Given the description of an element on the screen output the (x, y) to click on. 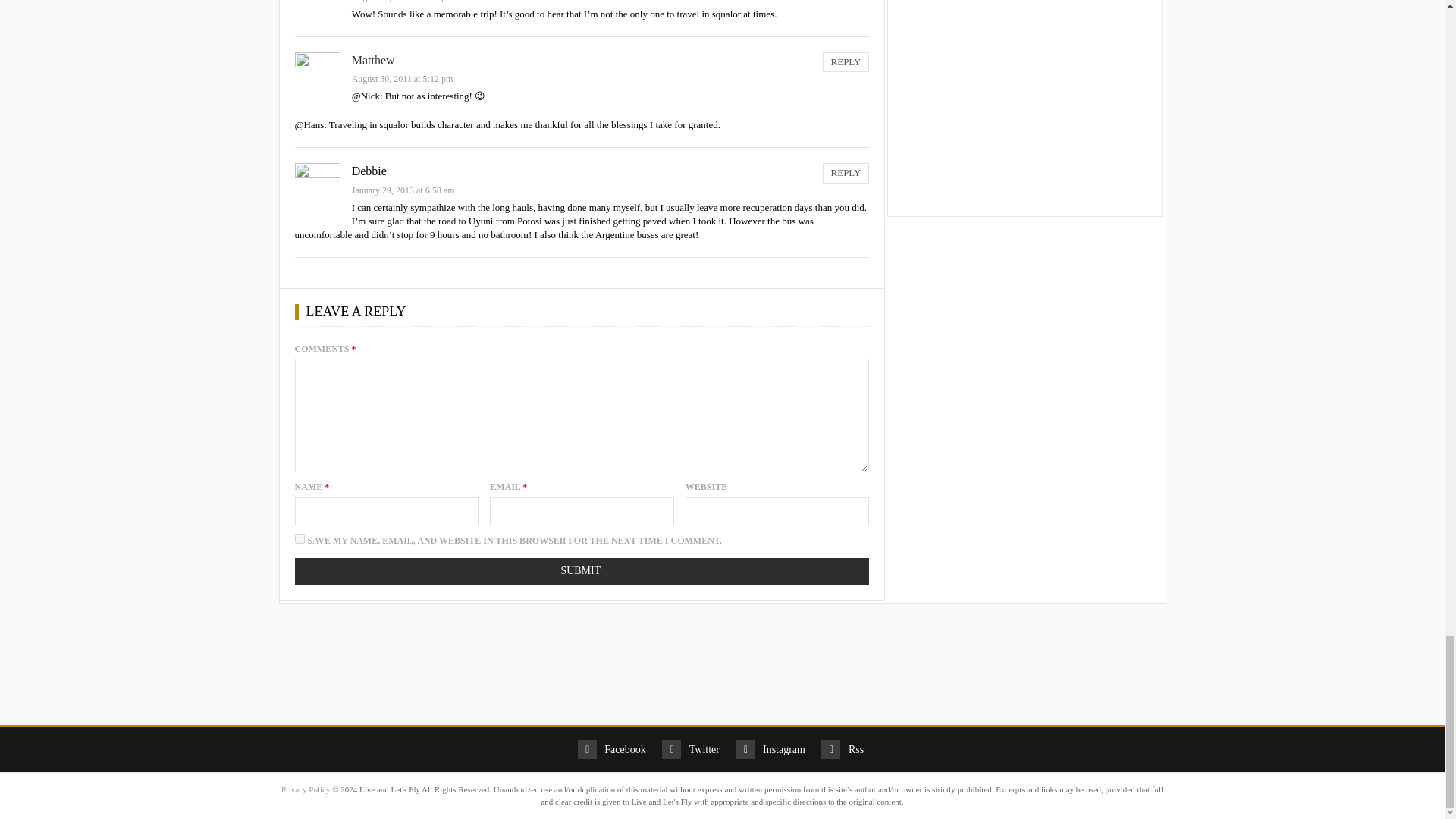
Submit  (581, 570)
yes (299, 538)
